Given the description of an element on the screen output the (x, y) to click on. 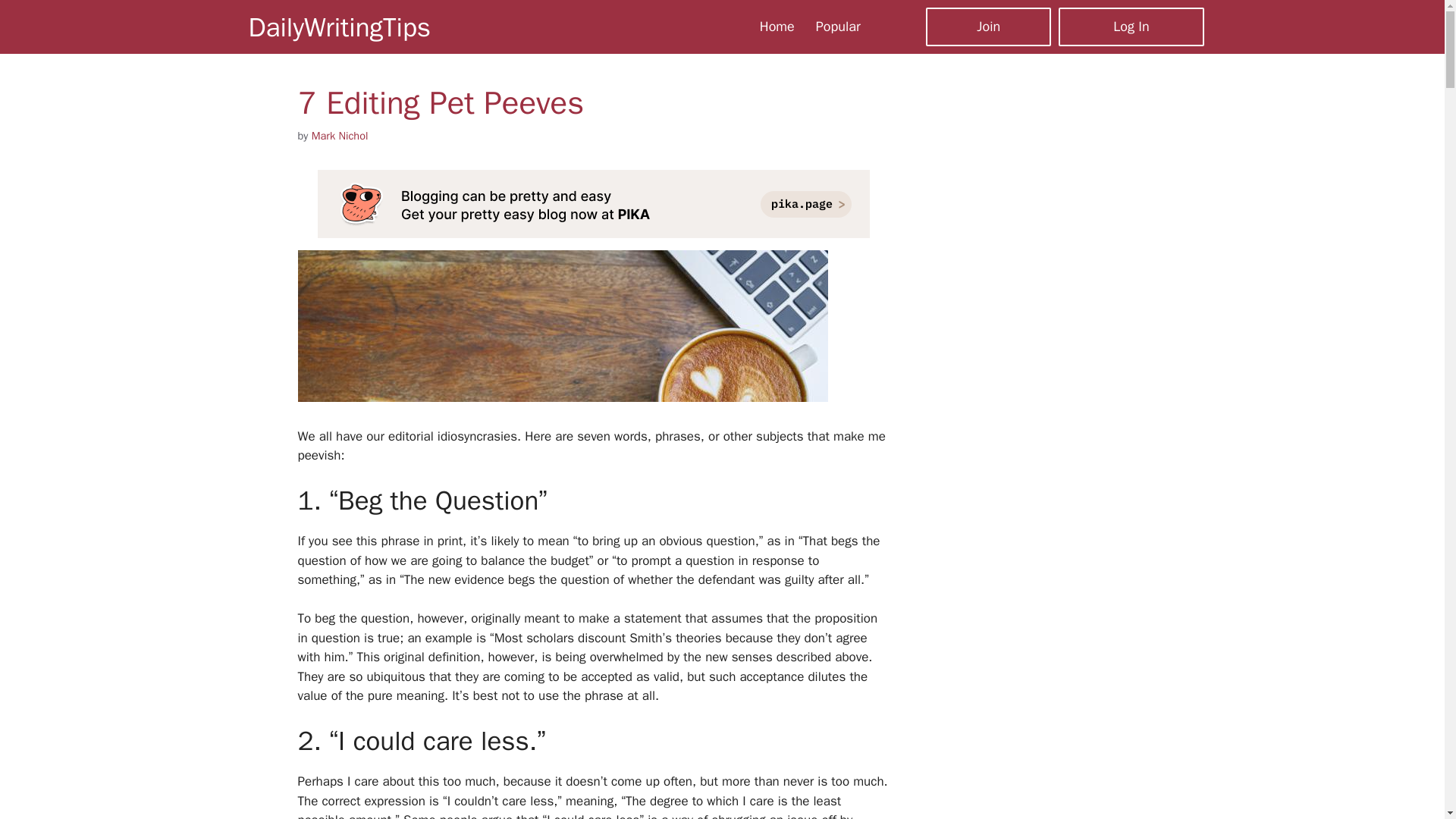
Log In (1131, 26)
Popular (837, 26)
Home (777, 26)
Join (988, 26)
View all posts by Mark Nichol (339, 135)
Mark Nichol (339, 135)
